Given the description of an element on the screen output the (x, y) to click on. 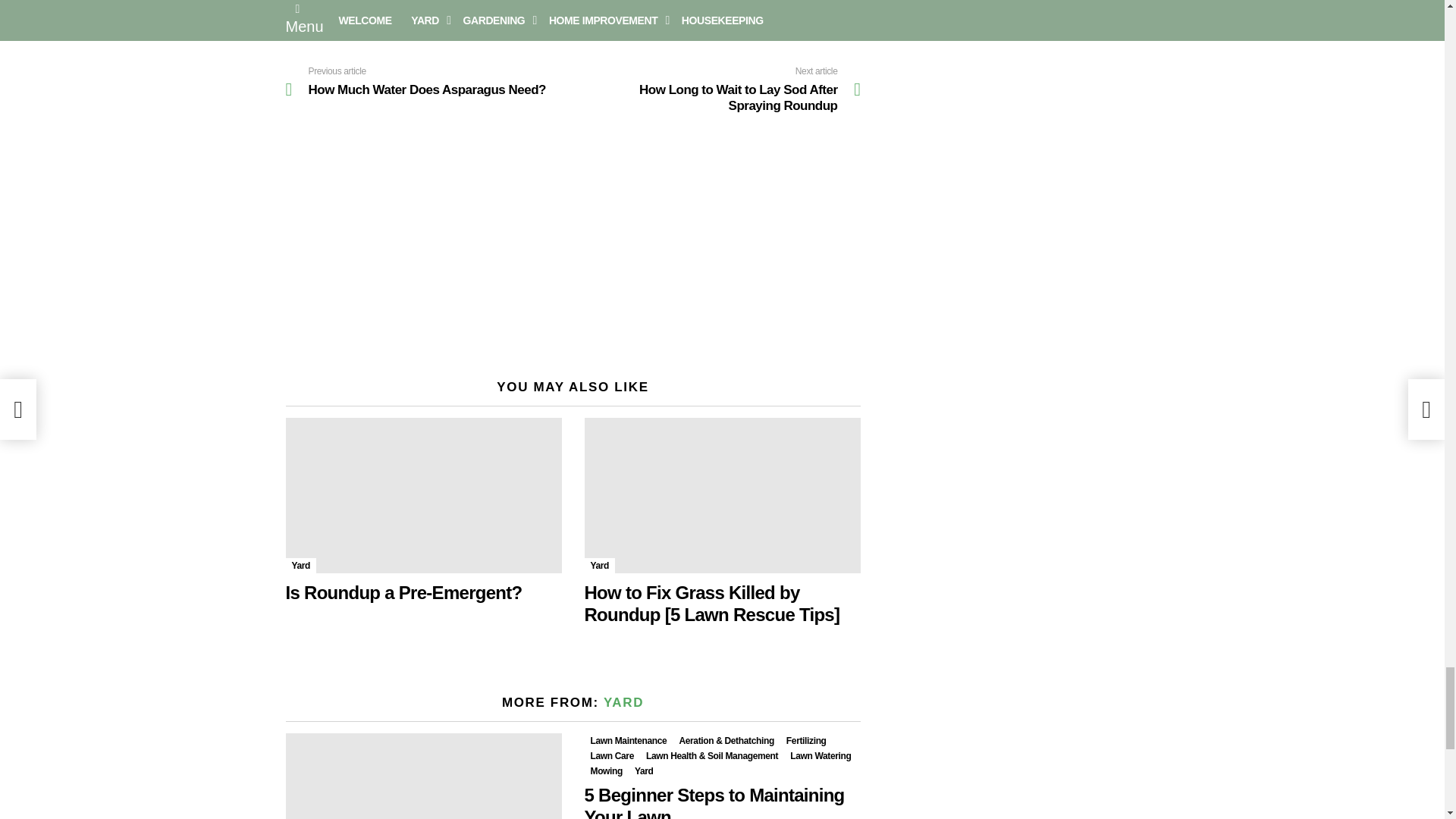
Is Roundup a Pre-Emergent? (422, 495)
